Given the description of an element on the screen output the (x, y) to click on. 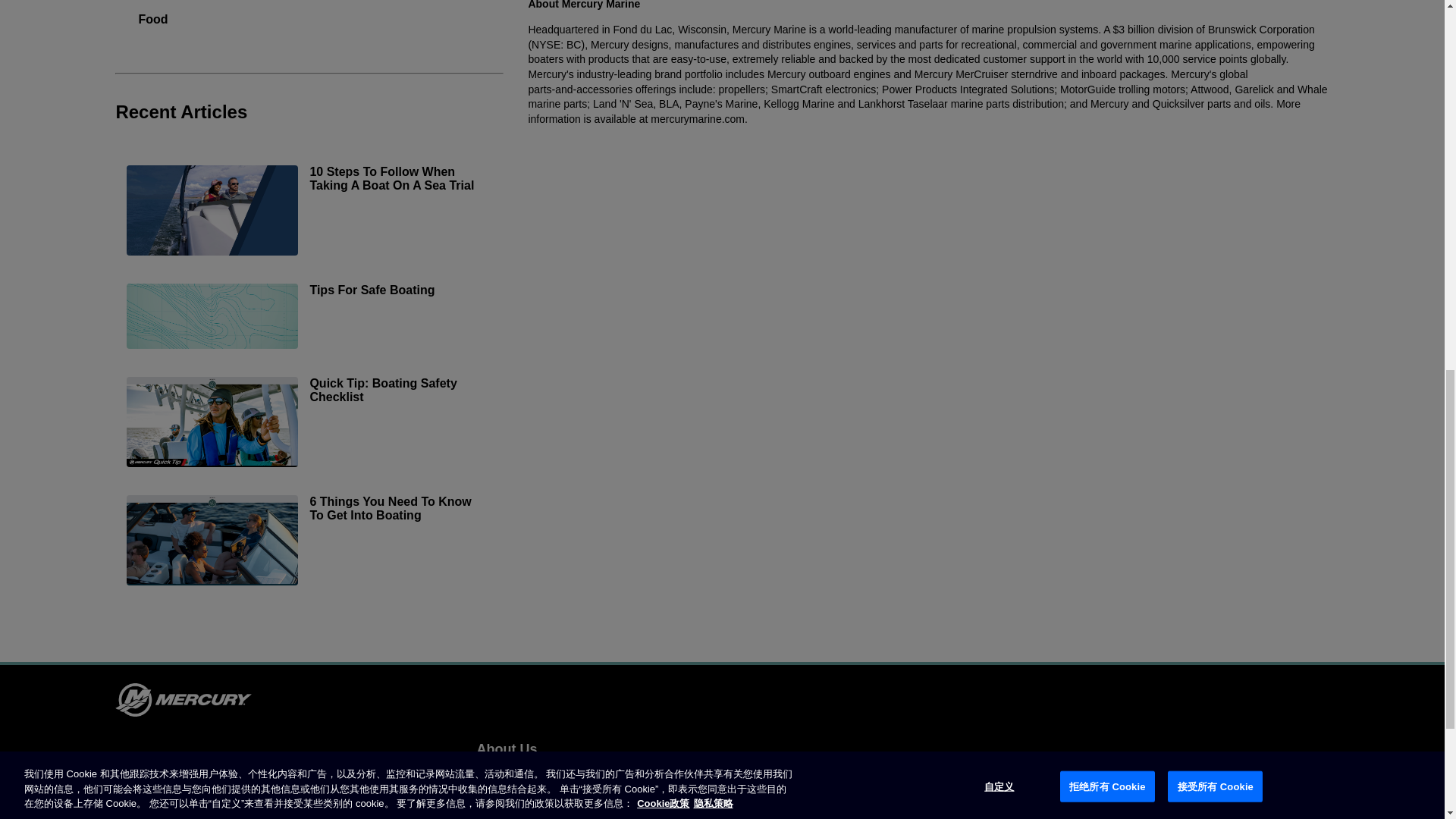
Tips for Safe Boating (309, 317)
10 Steps to Follow When Taking a Boat on a Sea Trial (309, 212)
6 Things You Need to Know to Get into Boating (309, 541)
Food (152, 27)
Quick Tip: Boating Safety Checklist (309, 423)
